Given the description of an element on the screen output the (x, y) to click on. 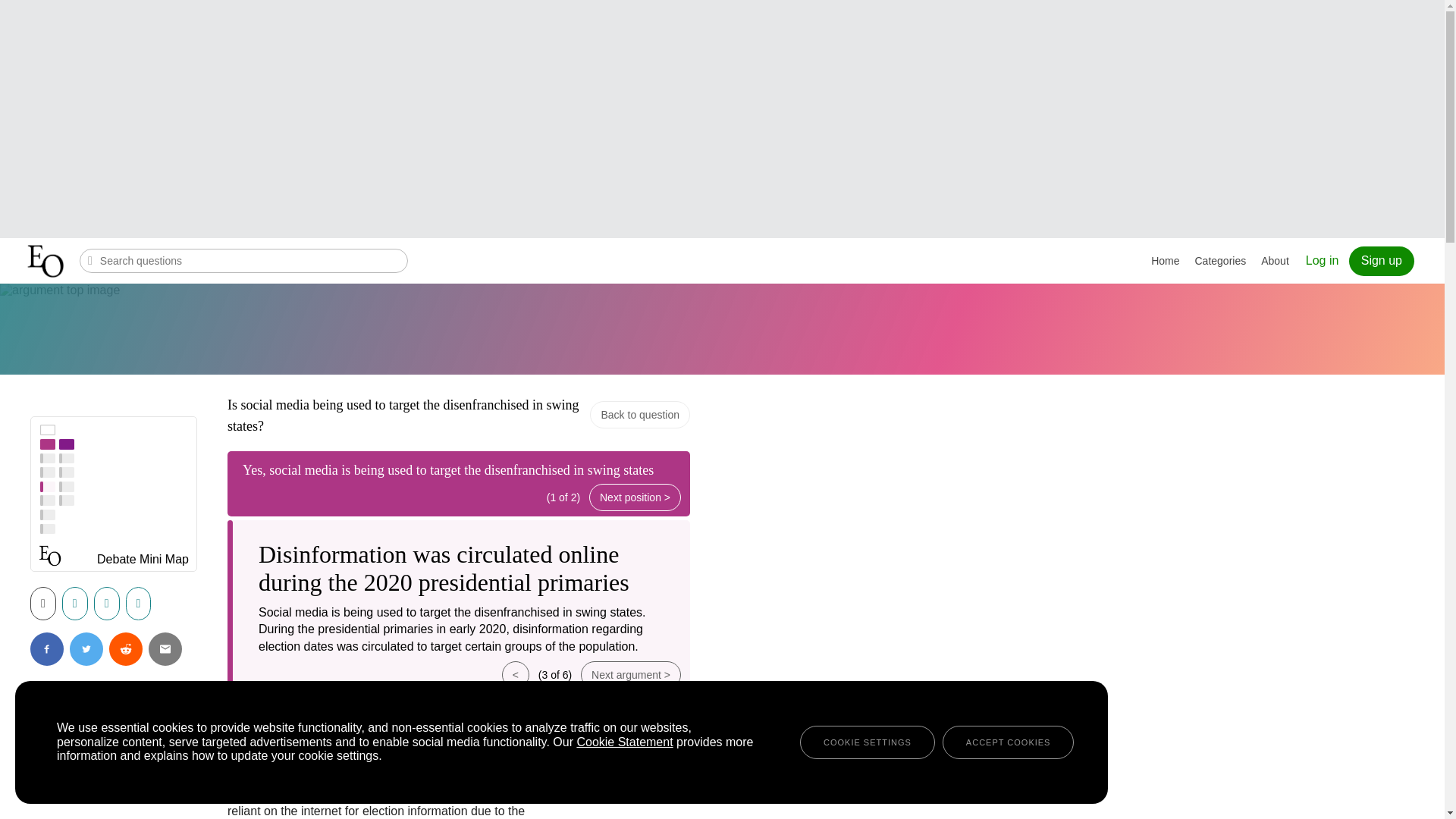
Log in (636, 759)
About (1275, 260)
Back to question (639, 414)
Debate Mini Map (143, 561)
Log in (636, 759)
Sign up (581, 759)
Log in (1322, 259)
Sign up (581, 759)
Log In (1322, 259)
Advertisement (734, 117)
Categories (1220, 260)
Sign up (1381, 260)
Sign up (1381, 260)
Home (1164, 260)
